Given the description of an element on the screen output the (x, y) to click on. 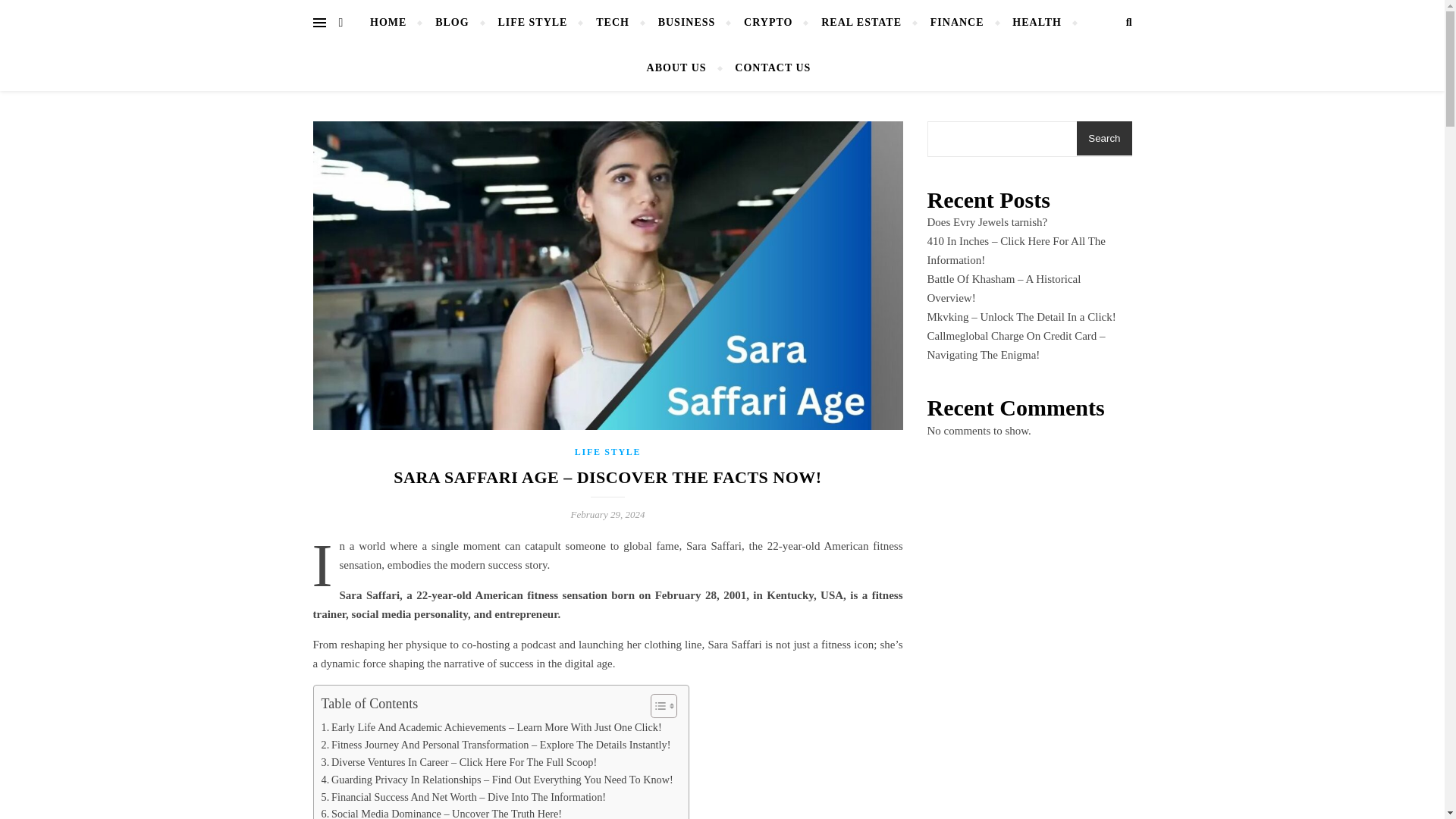
TECH (612, 22)
HEALTH (1036, 22)
BUSINESS (687, 22)
FINANCE (957, 22)
LIFE STYLE (531, 22)
CRYPTO (767, 22)
LIFE STYLE (607, 451)
CONTACT US (766, 67)
BLOG (451, 22)
REAL ESTATE (861, 22)
